Given the description of an element on the screen output the (x, y) to click on. 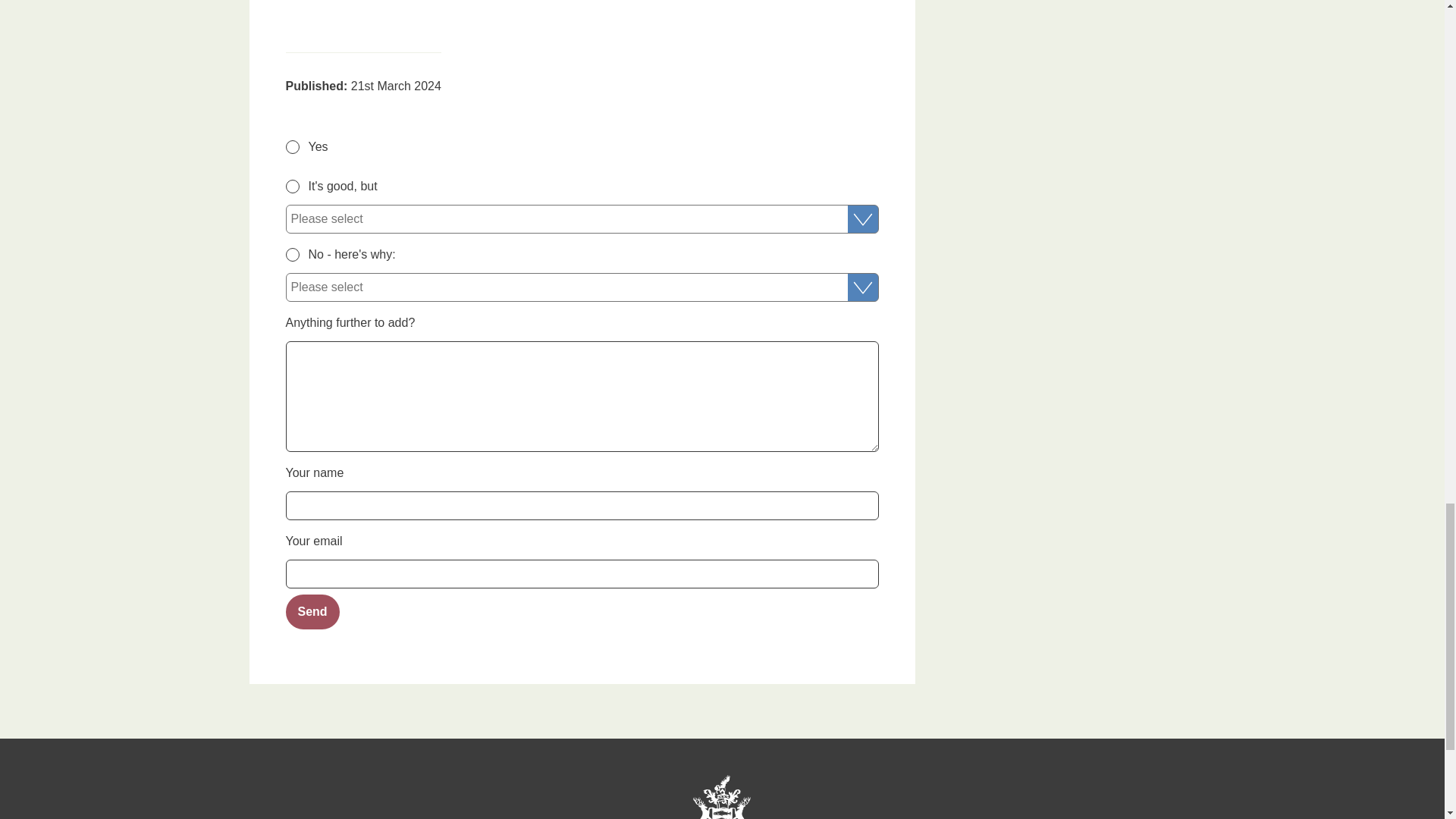
www.kingston.gov.uk Home Page (721, 796)
Send (312, 611)
